Given the description of an element on the screen output the (x, y) to click on. 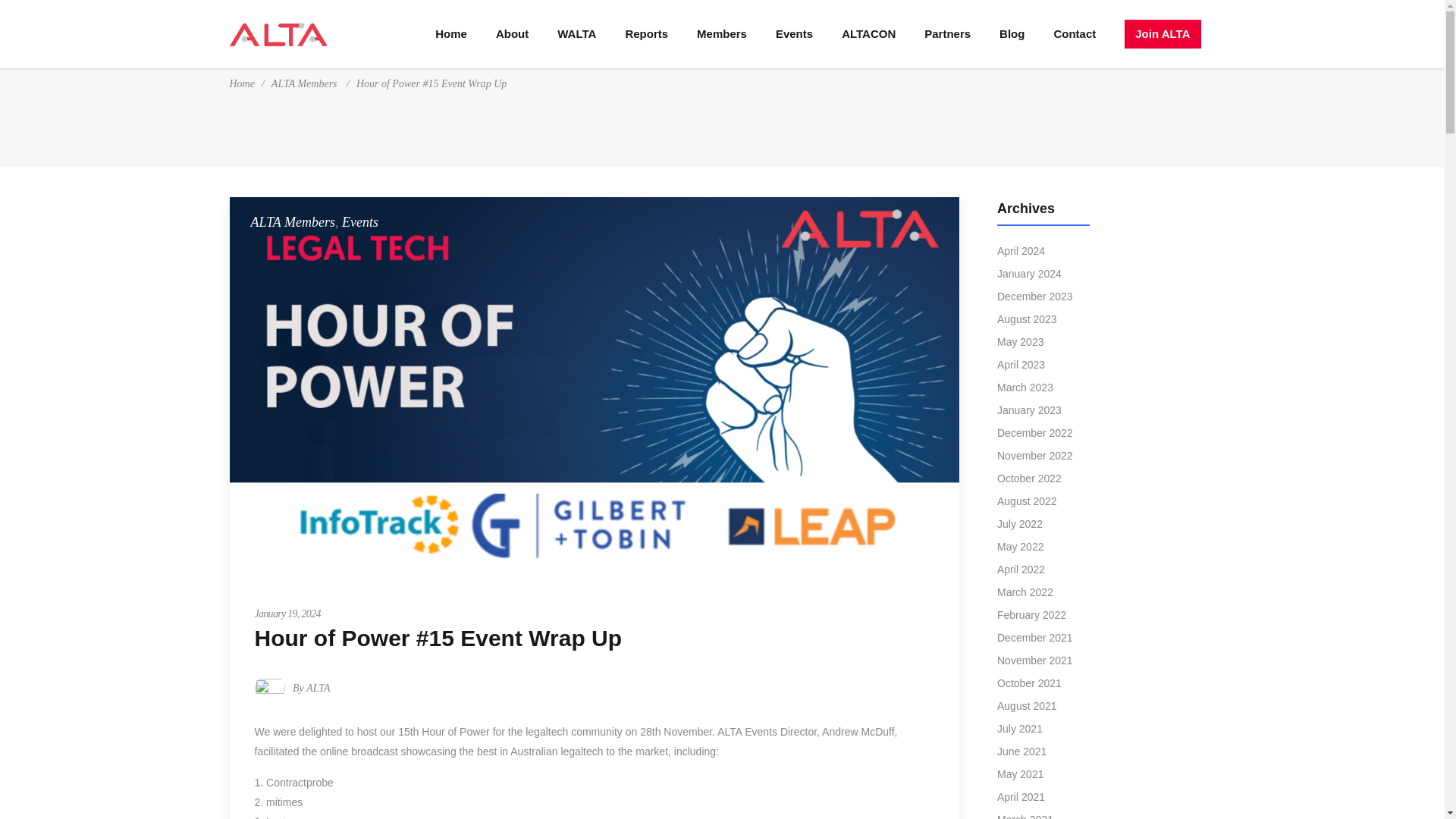
Members (721, 33)
ALTACON (868, 33)
Partners (947, 33)
WALTA (576, 33)
Reports (646, 33)
Events (794, 33)
About (512, 33)
Home (450, 33)
Contact (1074, 33)
Join ALTA (1161, 33)
